Given the description of an element on the screen output the (x, y) to click on. 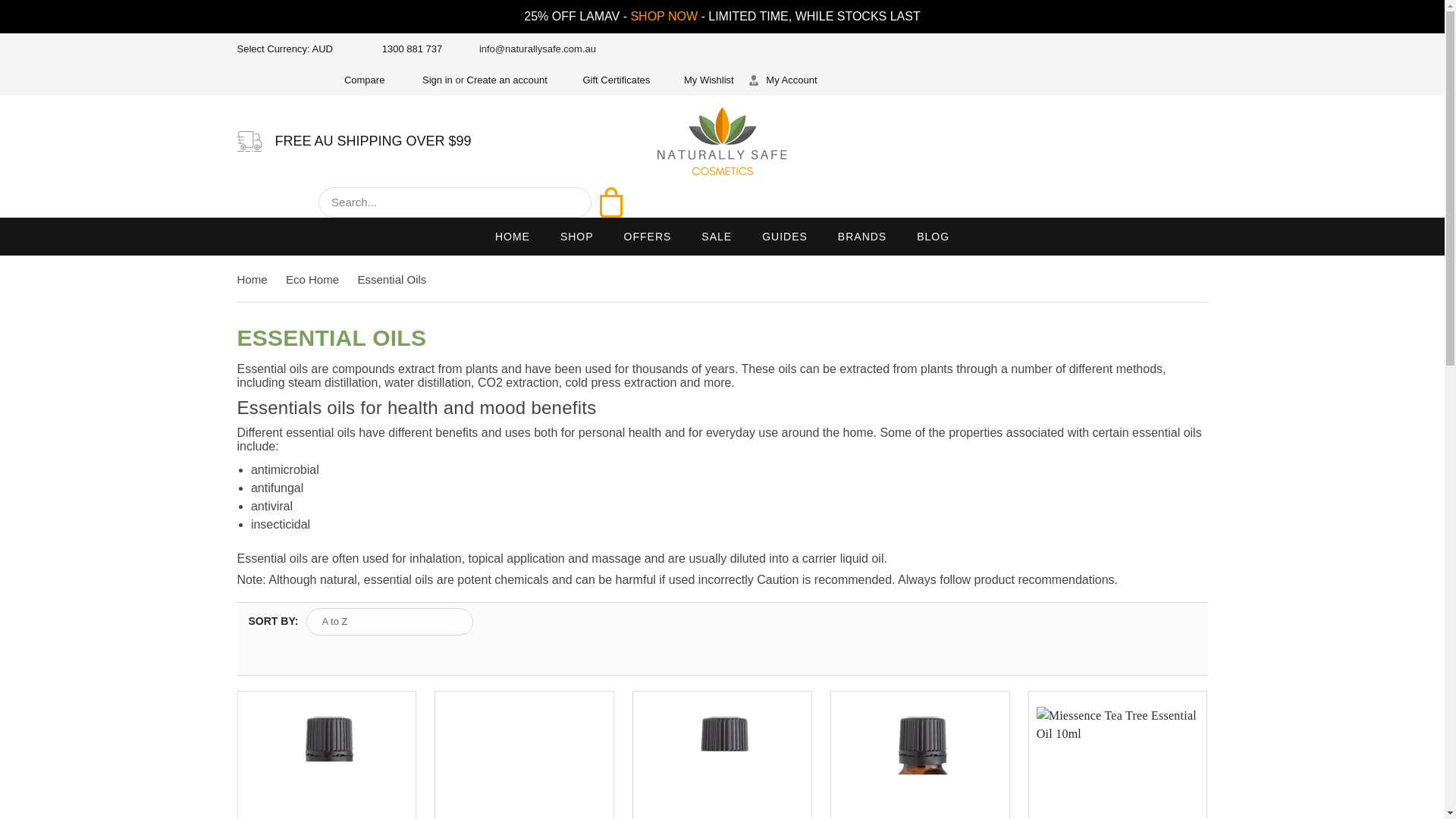
My Account (782, 80)
1300 881 737 (402, 48)
Sign in (429, 80)
Select Currency: AUD (290, 49)
1300 881 737 (402, 48)
Miessence Citronella Essential Oil 10ml (327, 762)
Miessence Peppermint Essential Oil 10ml (919, 762)
Naturally Safe Cosmetics (722, 141)
Gift Certificates (605, 80)
SHOP NOW - LIMITED TIME, WHILE STOCKS LAST (775, 15)
Compare (358, 80)
Miessence Frankincense Essential Oil 10ml (721, 762)
Create an account (507, 80)
My Wishlist (699, 80)
Miessence Clove Essential Oil 10ml (523, 762)
